Given the description of an element on the screen output the (x, y) to click on. 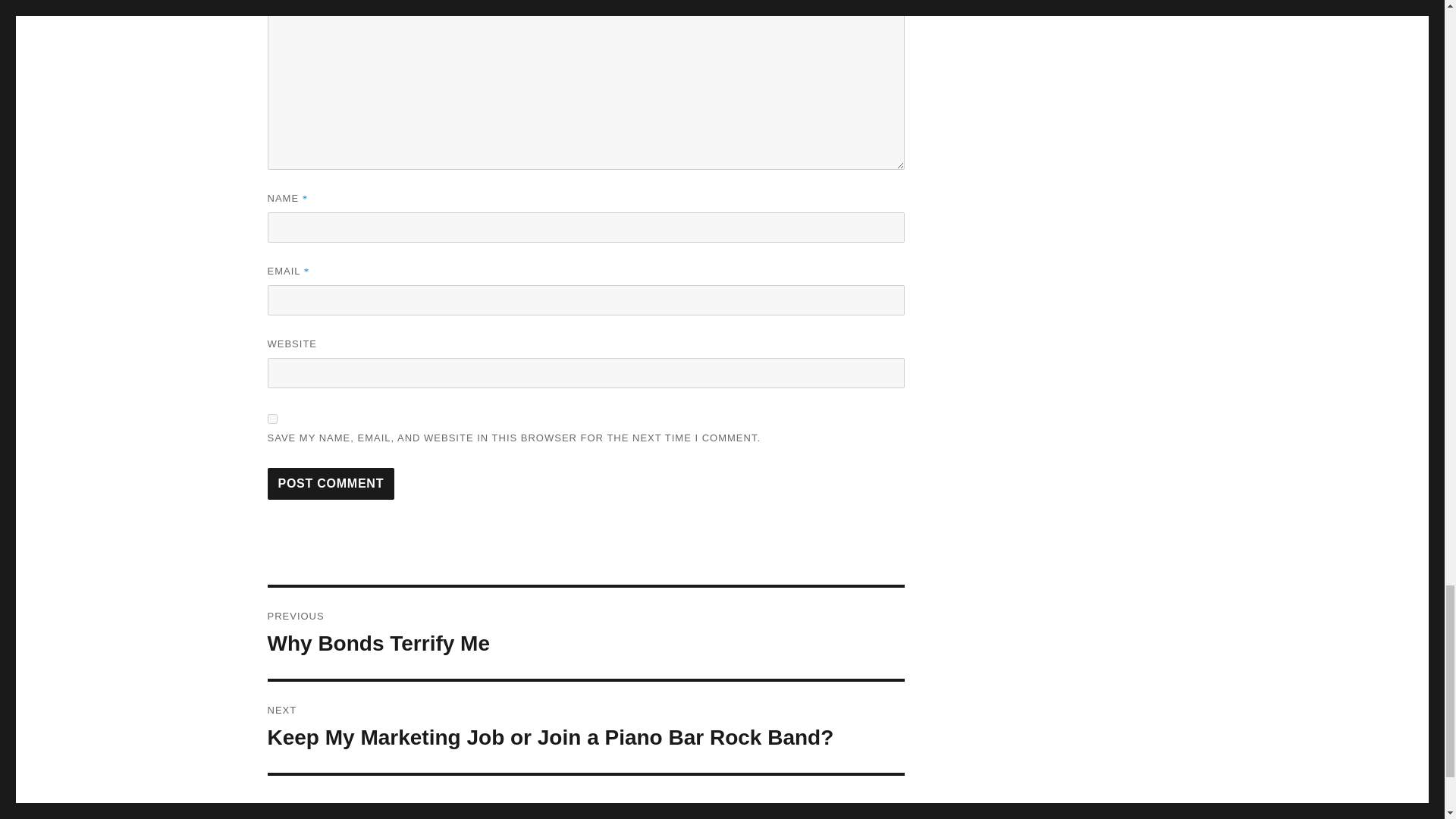
yes (271, 419)
Post Comment (585, 633)
Post Comment (330, 483)
